Given the description of an element on the screen output the (x, y) to click on. 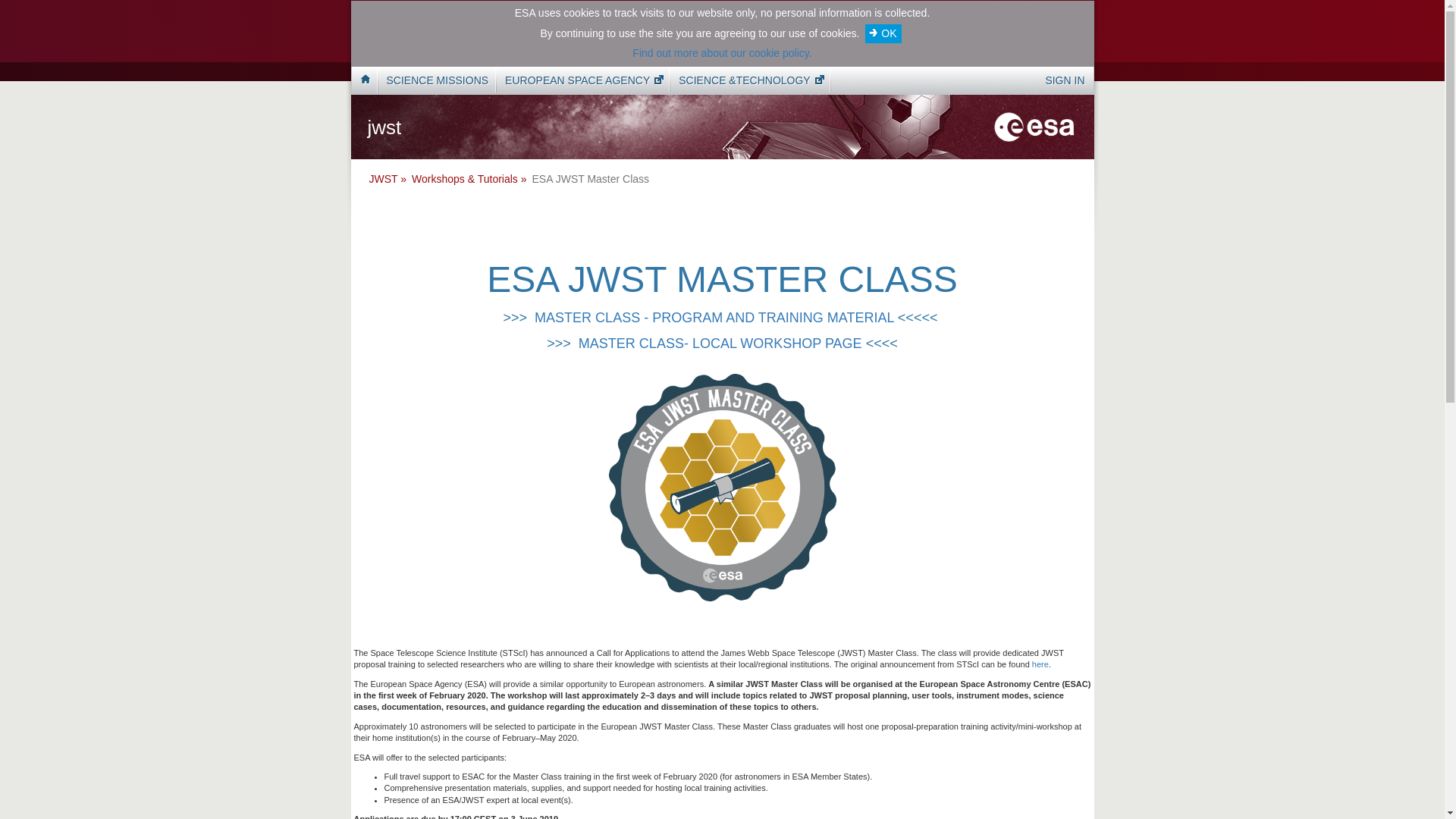
Find out more about our cookie policy. (720, 52)
OK (882, 33)
SCIENCE MISSIONS (436, 79)
